Given the description of an element on the screen output the (x, y) to click on. 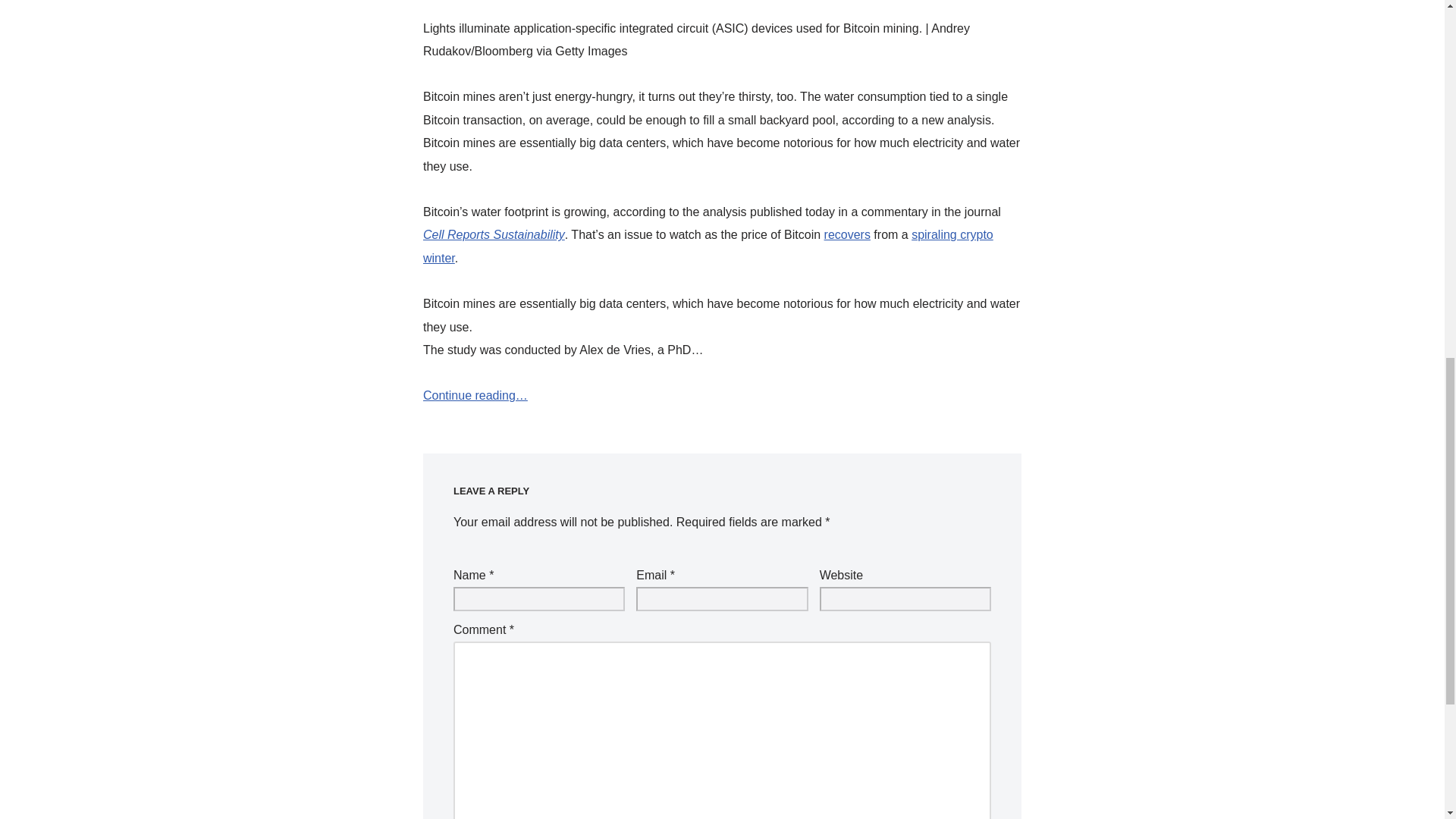
spiraling crypto winter (707, 245)
recovers (847, 234)
Cell Reports Sustainability (493, 234)
